Given the description of an element on the screen output the (x, y) to click on. 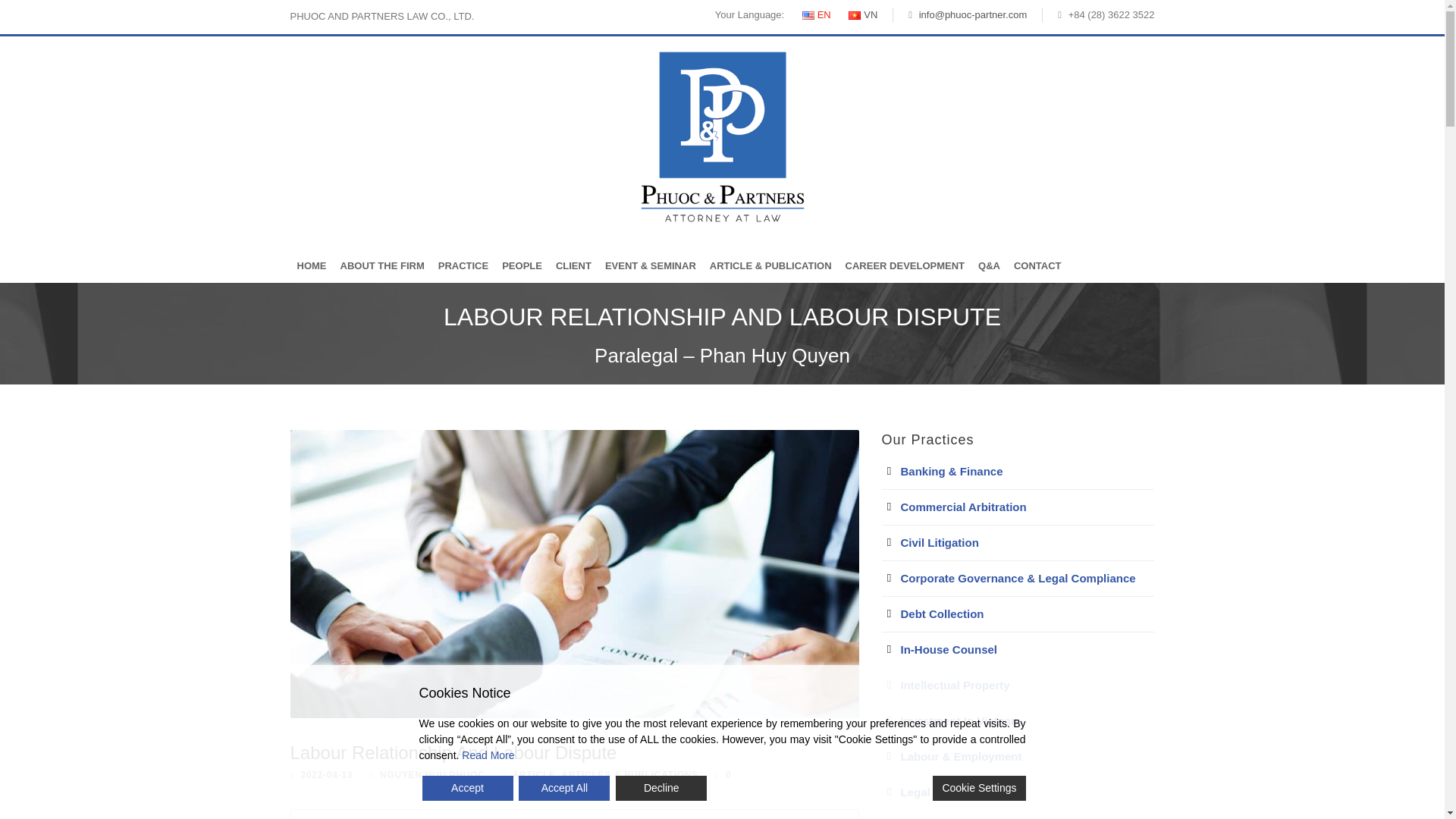
Posts by Nguyen Huu Phuoc (432, 774)
PRACTICE (462, 266)
EN (816, 14)
EN (807, 15)
VN (854, 15)
HOME (311, 266)
ABOUT THE FIRM (381, 266)
VN (862, 14)
